Given the description of an element on the screen output the (x, y) to click on. 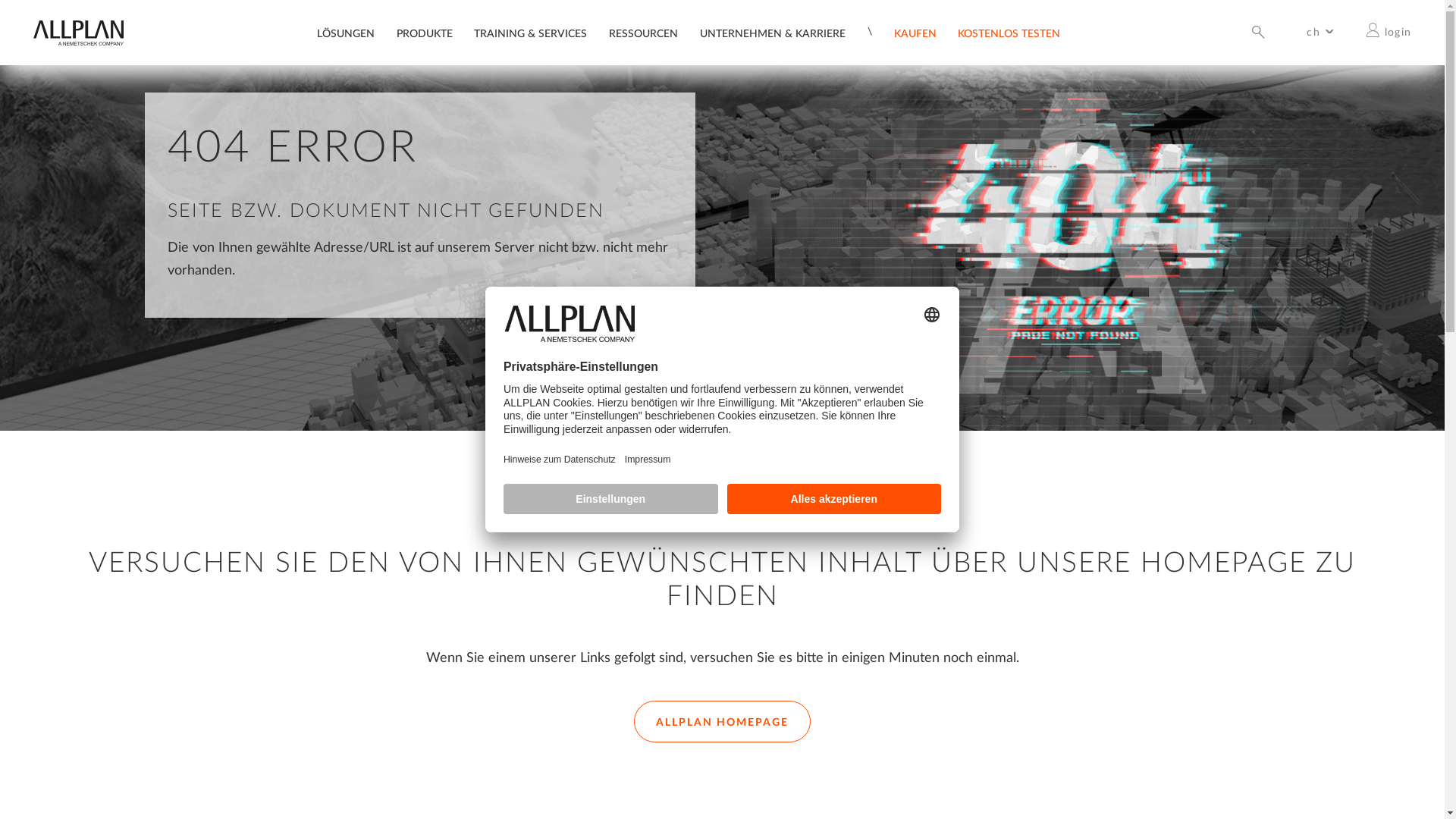
login Element type: text (1389, 31)
TRAINING & SERVICES Element type: text (529, 36)
UNTERNEHMEN & KARRIERE Element type: text (772, 36)
Zur Startseite Element type: hover (77, 41)
RESSOURCEN Element type: text (642, 36)
KOSTENLOS TESTEN Element type: text (1008, 36)
KAUFEN Element type: text (915, 36)
ALLPLAN HOMEPAGE Element type: text (721, 721)
PRODUKTE Element type: text (424, 36)
